Given the description of an element on the screen output the (x, y) to click on. 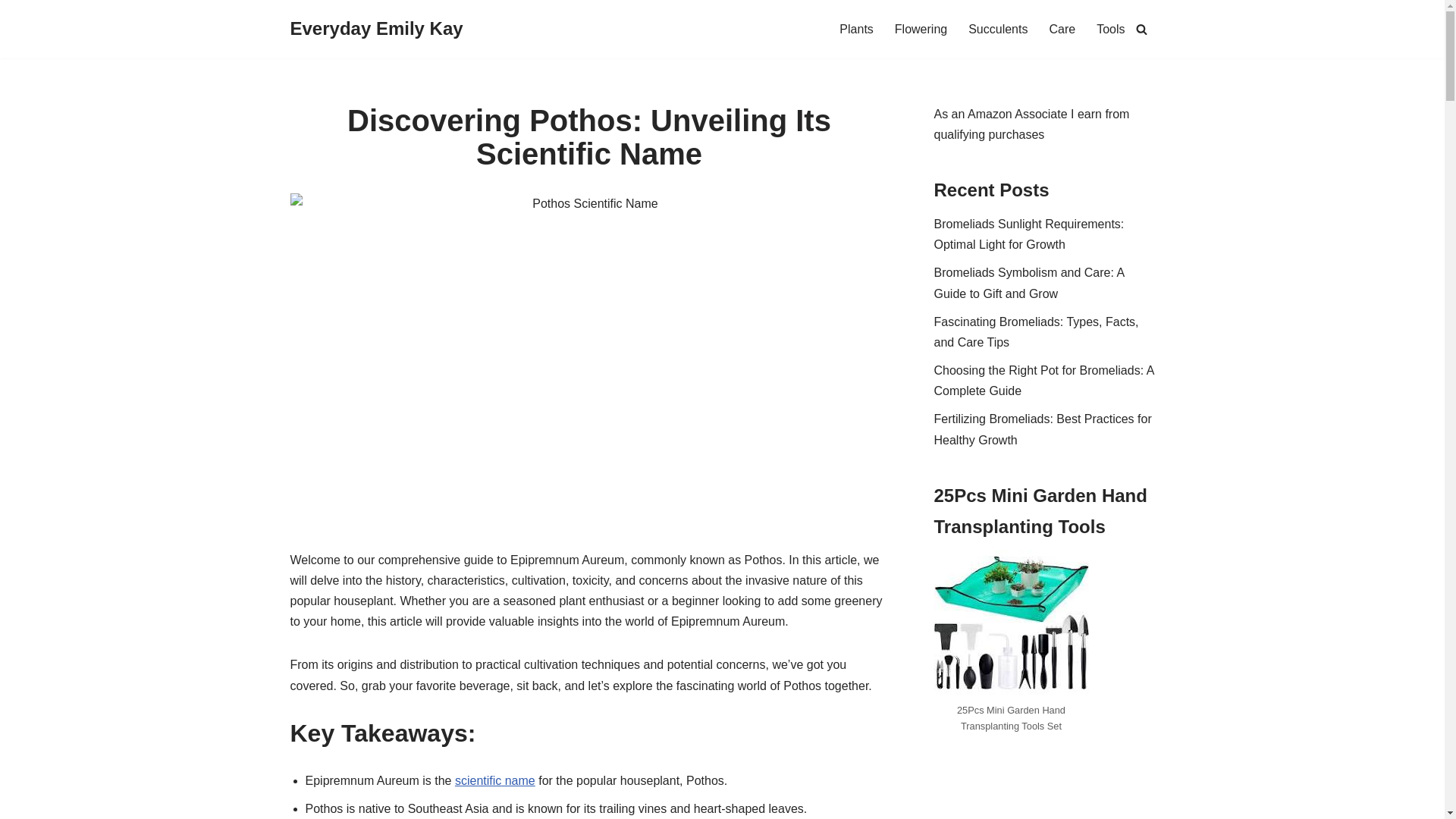
Tools (1110, 28)
Fertilizing Bromeliads: Best Practices for Healthy Growth (1042, 428)
Succulents (997, 28)
Bromeliads Sunlight Requirements: Optimal Light for Growth (1029, 233)
Bromeliads Symbolism and Care: A Guide to Gift and Grow (1029, 282)
scientific name (494, 780)
Choosing the Right Pot for Bromeliads: A Complete Guide (1044, 380)
Skip to content (11, 31)
Care (1061, 28)
Everyday Emily Kay (376, 29)
Flowering (921, 28)
Fascinating Bromeliads: Types, Facts, and Care Tips (1036, 331)
Plants (856, 28)
